Given the description of an element on the screen output the (x, y) to click on. 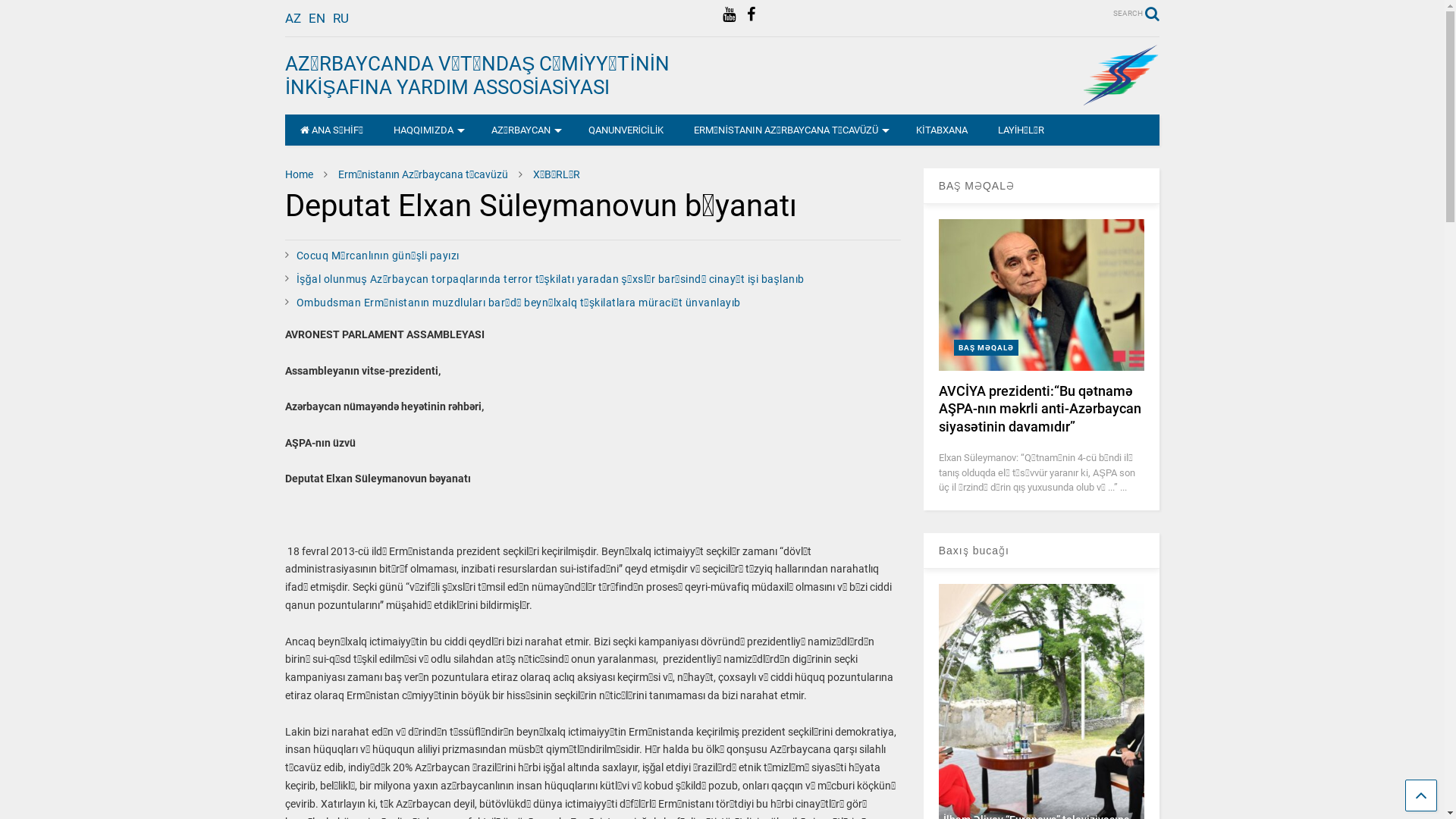
Home Element type: text (299, 174)
SEARCH Element type: text (1136, 13)
RU Element type: text (340, 17)
EN Element type: text (316, 17)
HAQQIMIZDA Element type: text (427, 130)
AZ Element type: text (293, 17)
facebook Element type: hover (750, 14)
youtube Element type: hover (727, 14)
